Given the description of an element on the screen output the (x, y) to click on. 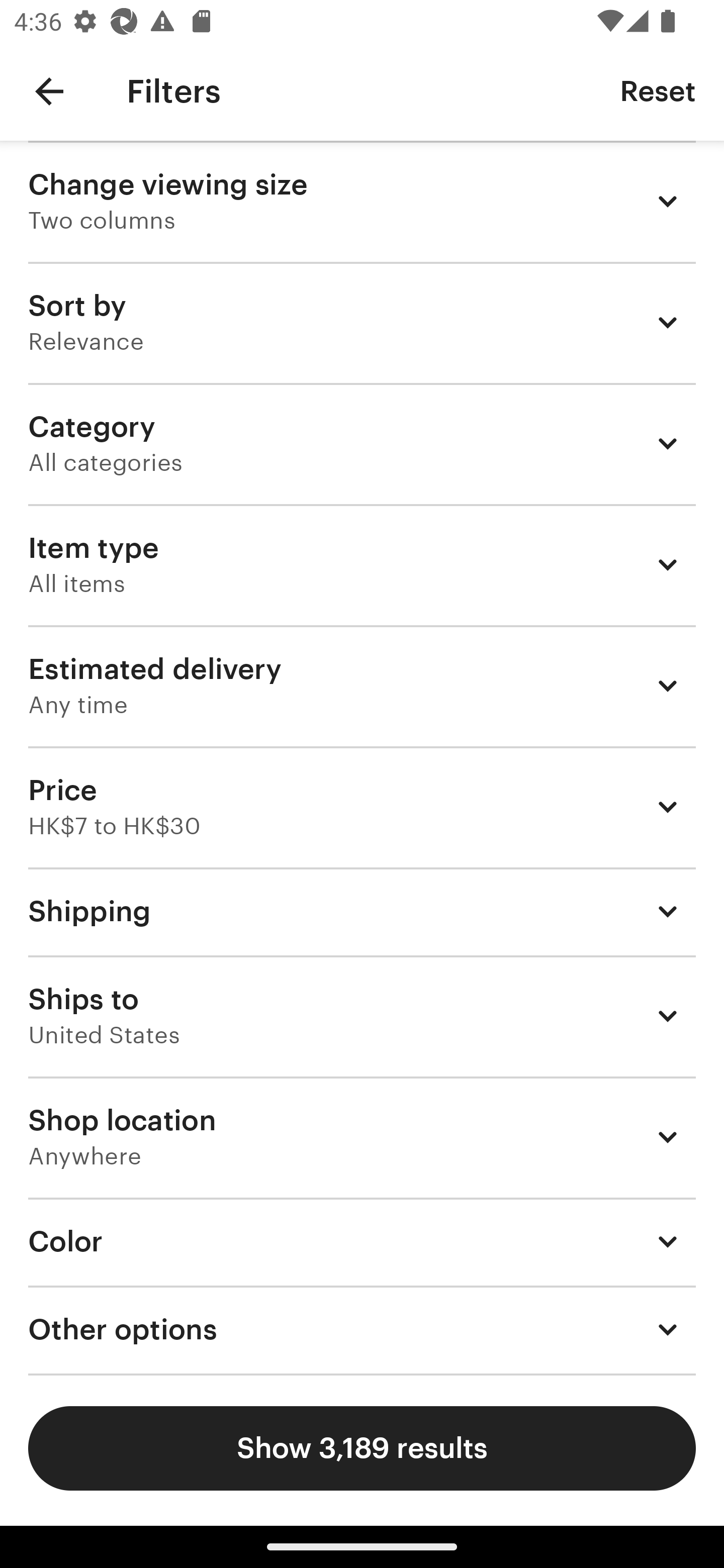
Navigate up (49, 91)
Reset (657, 90)
Change viewing size Two columns (362, 201)
Sort by Relevance (362, 321)
Category All categories (362, 442)
Item type All items (362, 564)
Estimated delivery Any time (362, 685)
Price HK$7 to HK$30 (362, 806)
Shipping (362, 910)
Ships to United States (362, 1015)
Shop location Anywhere (362, 1137)
Color (362, 1241)
Other options (362, 1329)
Show 3,189 results Show results (361, 1448)
